Given the description of an element on the screen output the (x, y) to click on. 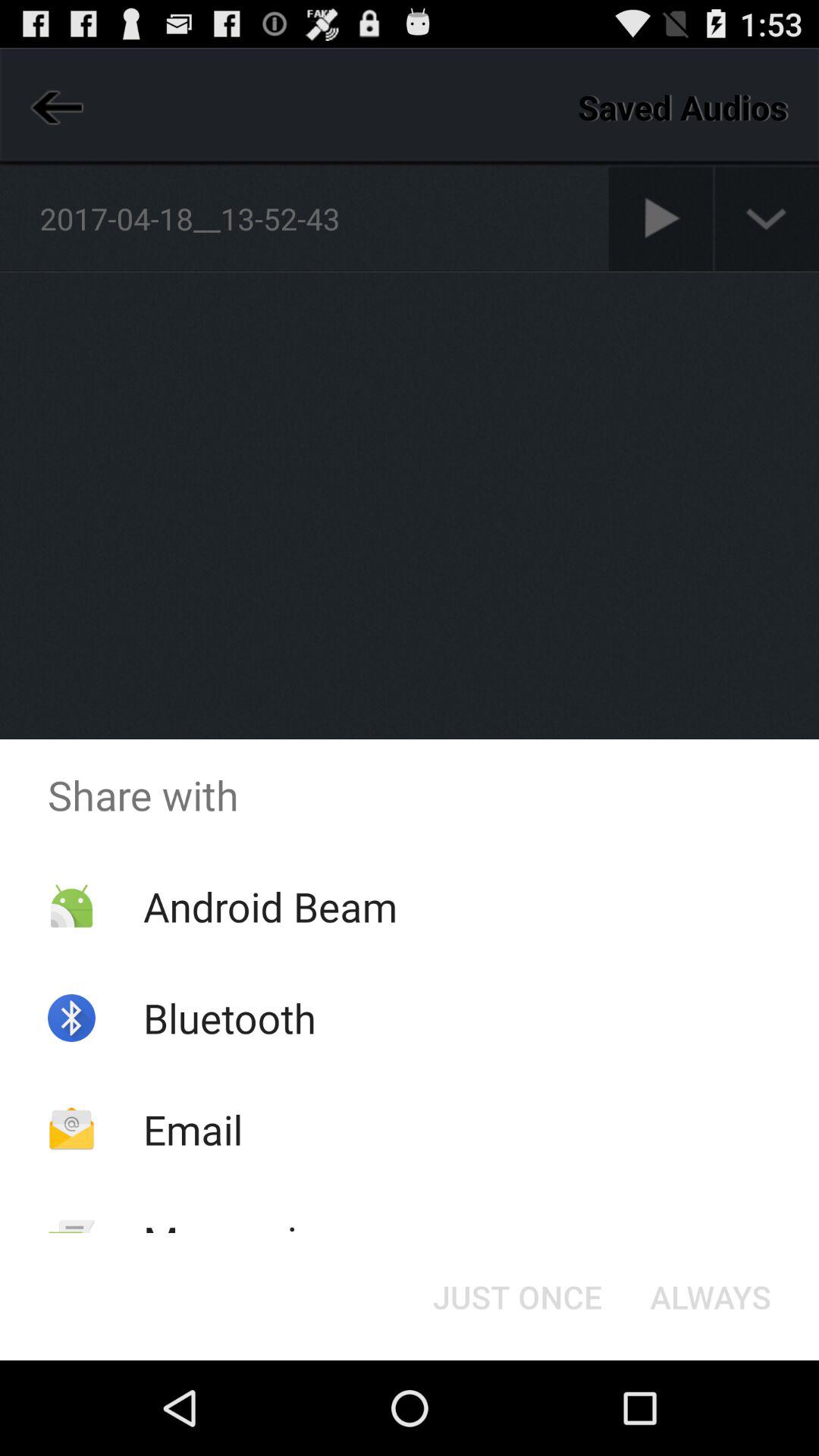
flip until the always button (710, 1296)
